Given the description of an element on the screen output the (x, y) to click on. 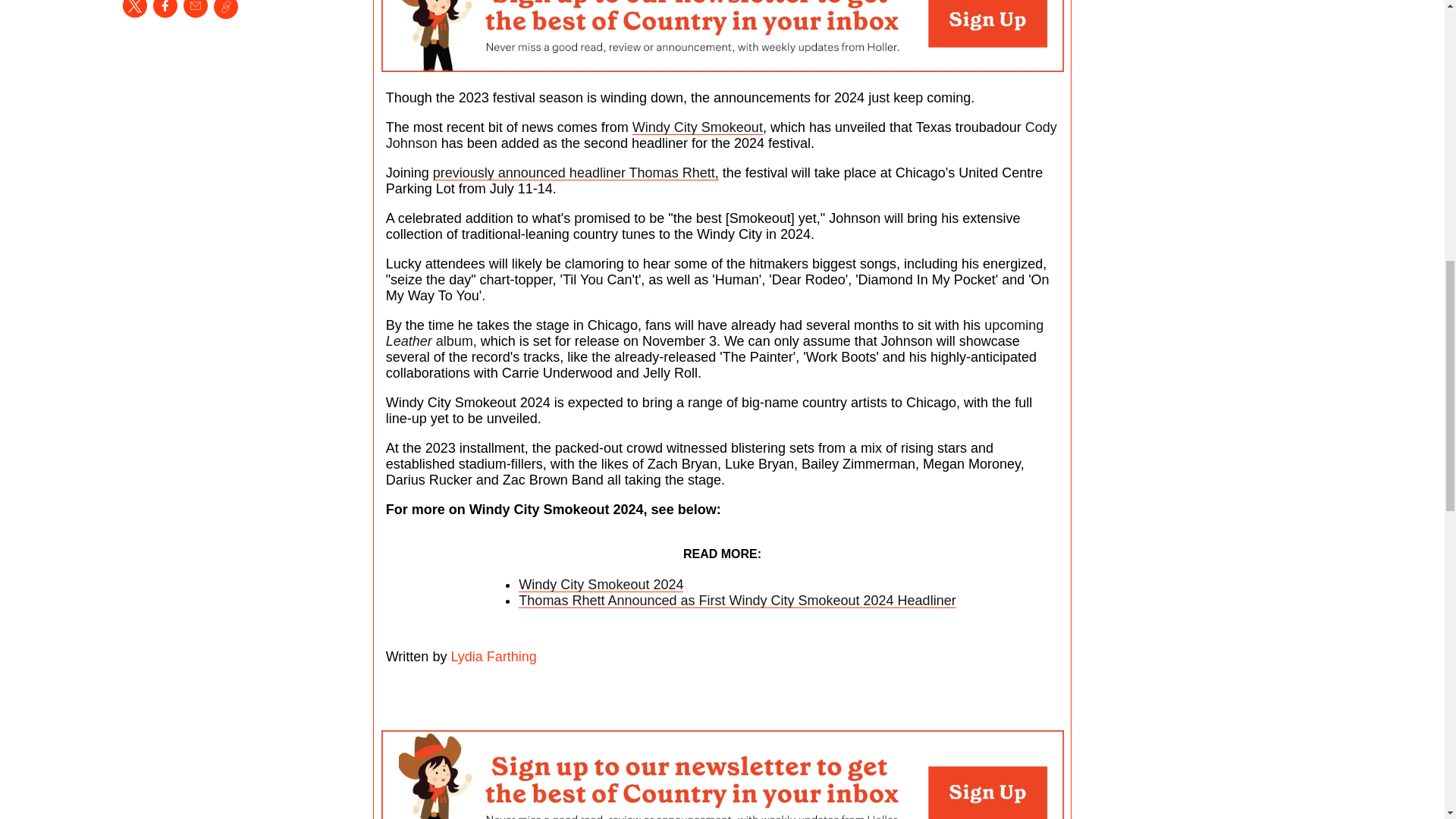
previously announced headliner Thomas Rhett, (575, 172)
Lydia Farthing (490, 656)
Cody Johnson (721, 134)
Windy City Smokeout (696, 127)
Windy City Smokeout 2024 (600, 584)
upcoming Leather album, (714, 332)
